Given the description of an element on the screen output the (x, y) to click on. 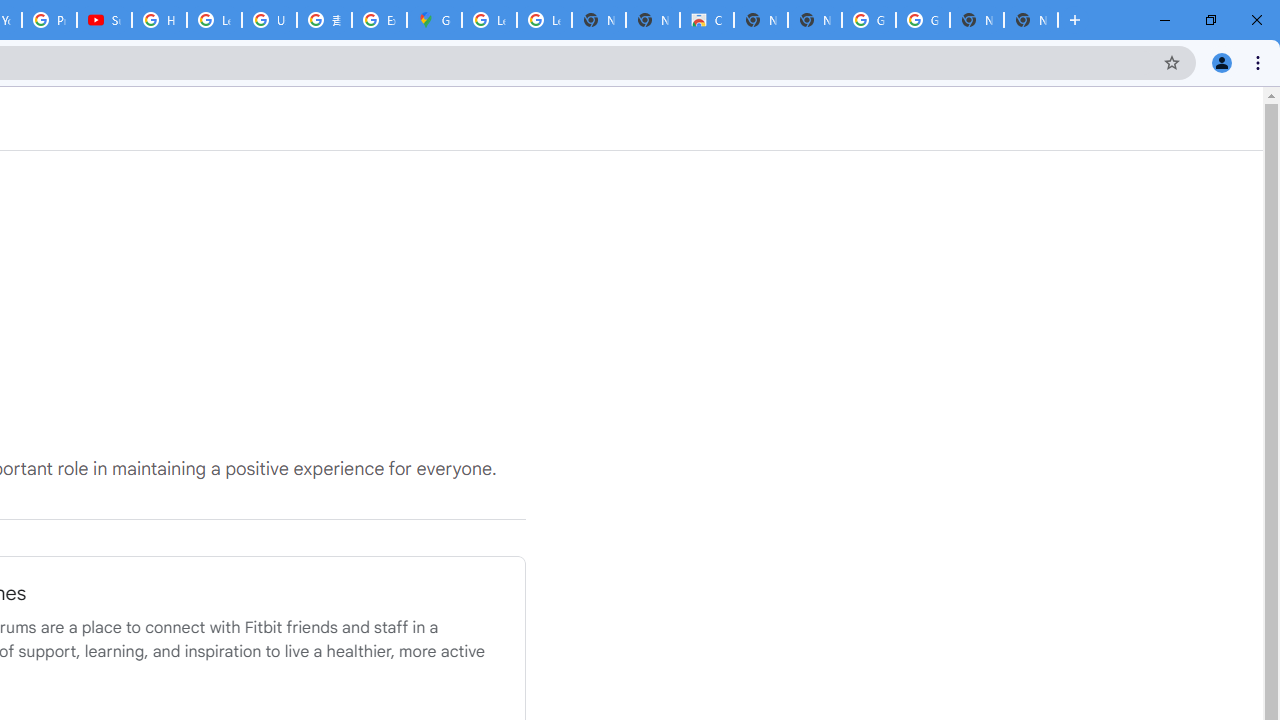
Google Images (868, 20)
